Given the description of an element on the screen output the (x, y) to click on. 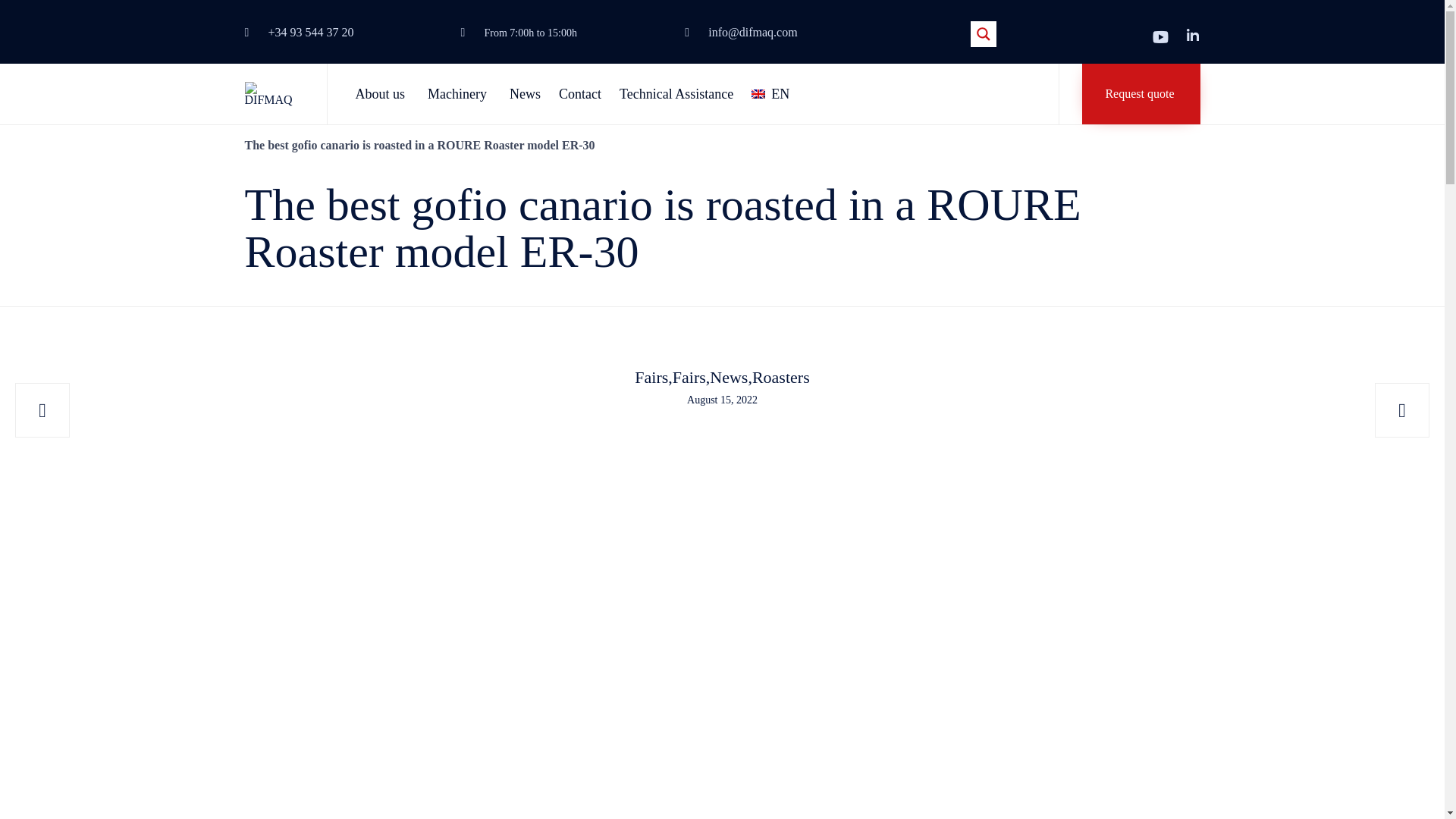
Machinery (459, 93)
DIFMAQ (273, 93)
EN (769, 93)
About us (382, 93)
